Given the description of an element on the screen output the (x, y) to click on. 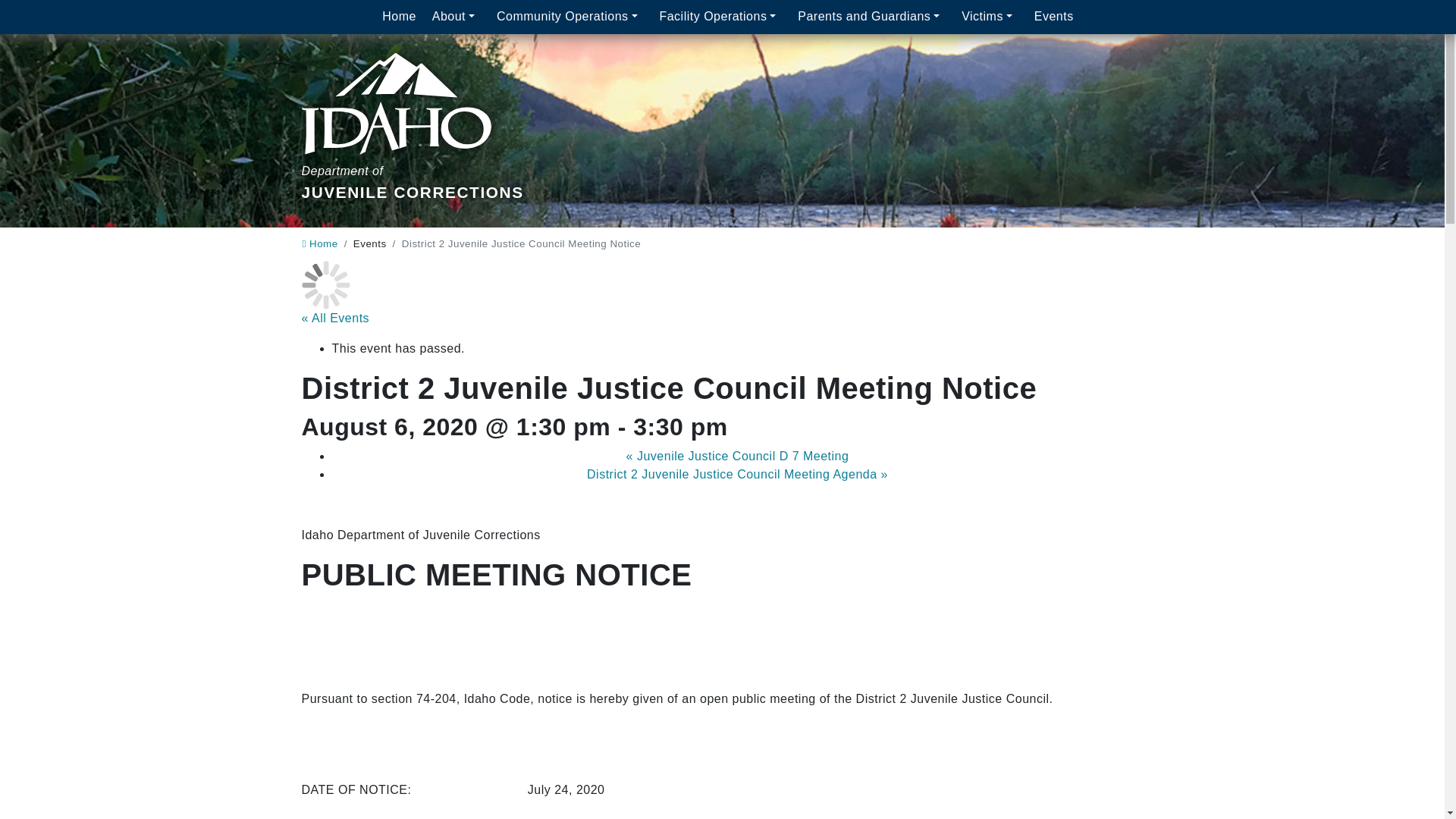
Community Operations (569, 16)
Community Operations (569, 16)
About (455, 16)
Facility Operations (720, 16)
Home (412, 109)
Parents and Guardians (398, 16)
Home (871, 16)
About (398, 16)
Home (455, 16)
